Given the description of an element on the screen output the (x, y) to click on. 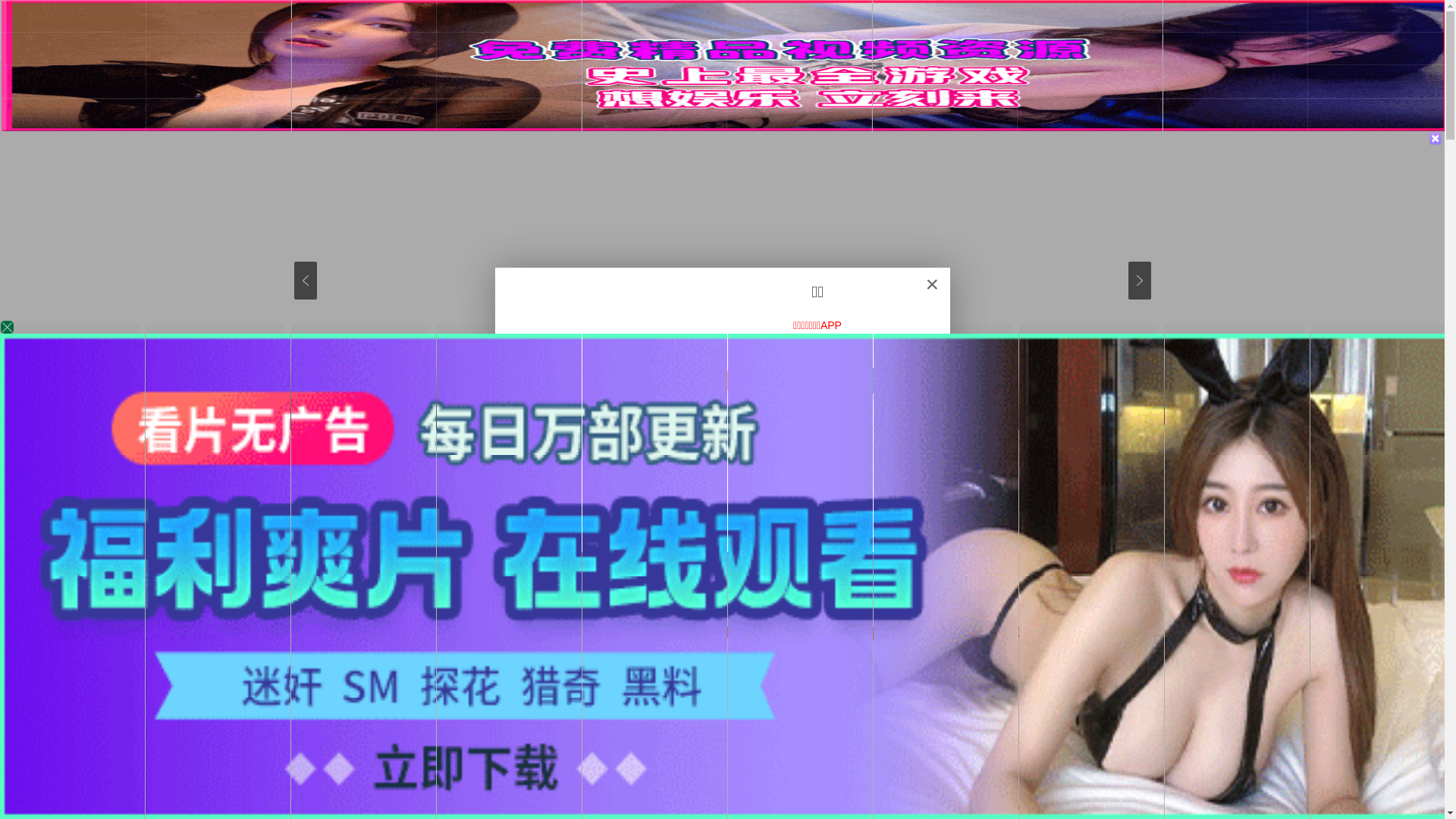
APP Element type: text (566, 30)
5.0
HD Element type: text (793, 719)
www.yingshidaohang.top Element type: text (732, 527)
10.0
HD Element type: text (937, 719)
